Given the description of an element on the screen output the (x, y) to click on. 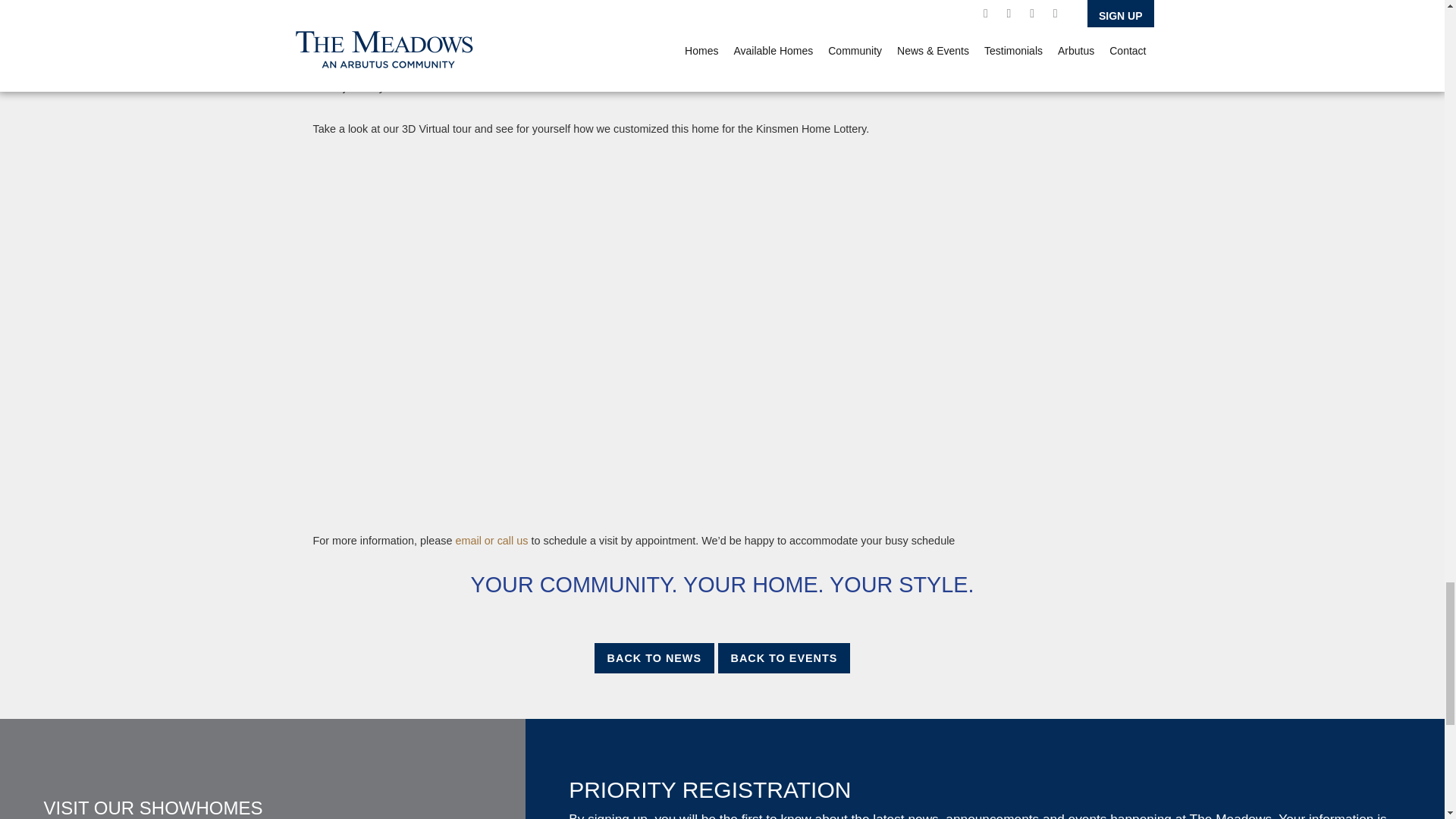
BACK TO NEWS (654, 657)
 email or call us (489, 540)
BACK TO EVENTS (783, 657)
